Given the description of an element on the screen output the (x, y) to click on. 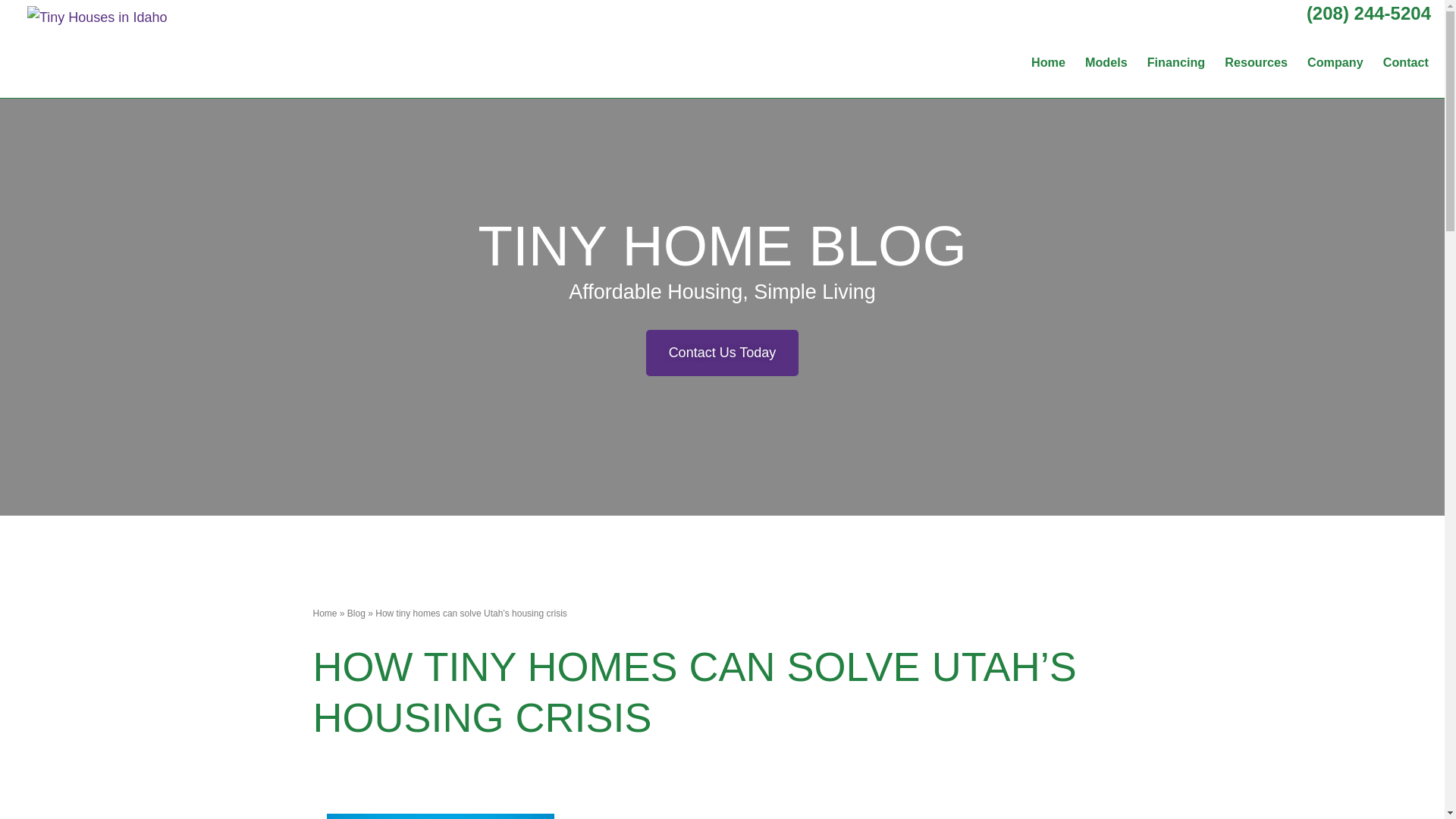
Resources (1256, 61)
Financing (1176, 61)
Blog (356, 613)
Home (324, 613)
Contact (1406, 61)
Contact Us Today (722, 353)
Company (1335, 61)
